Given the description of an element on the screen output the (x, y) to click on. 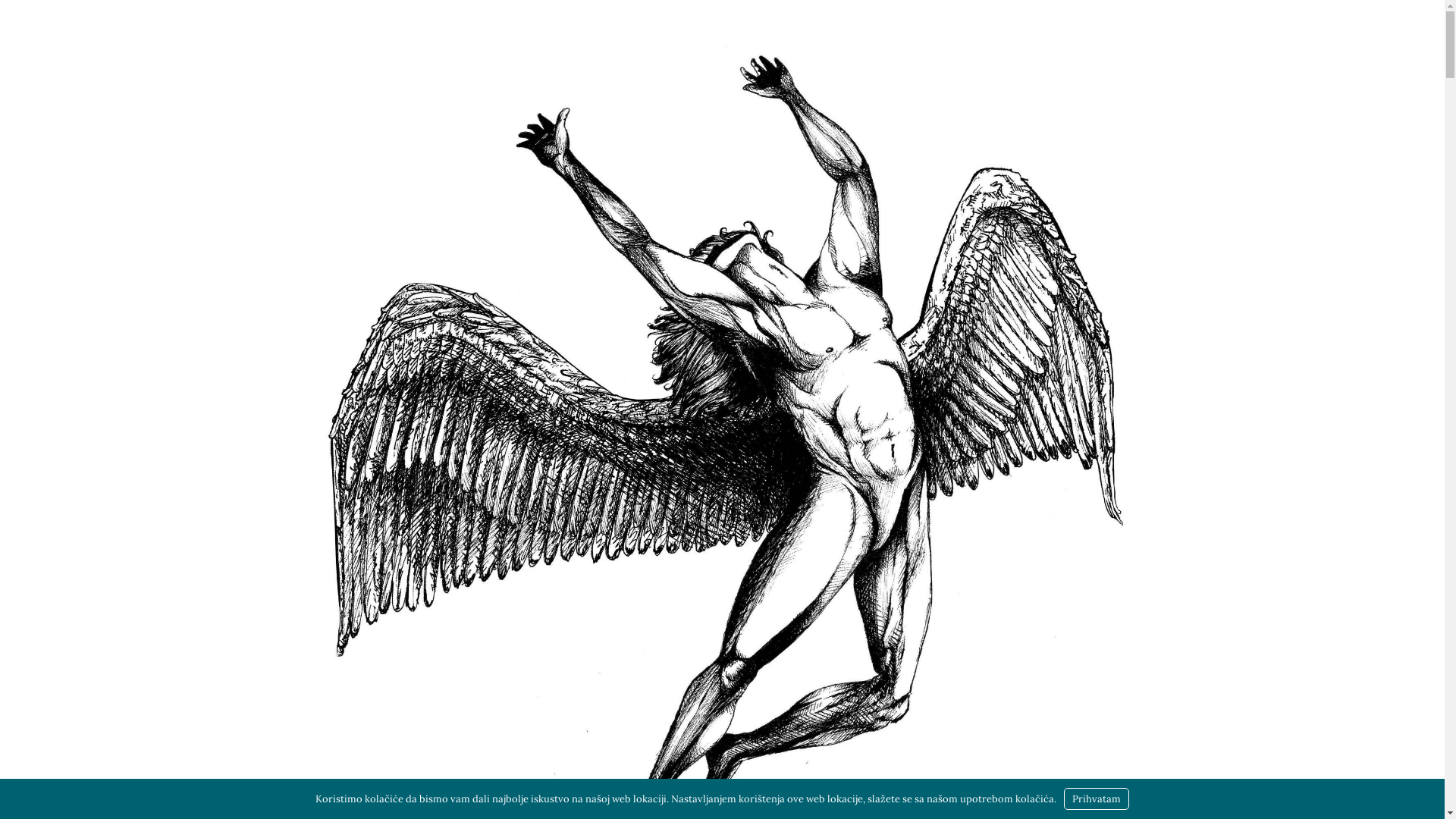
Pretraga Element type: text (18, 18)
Prihvatam Element type: text (1096, 798)
